Given the description of an element on the screen output the (x, y) to click on. 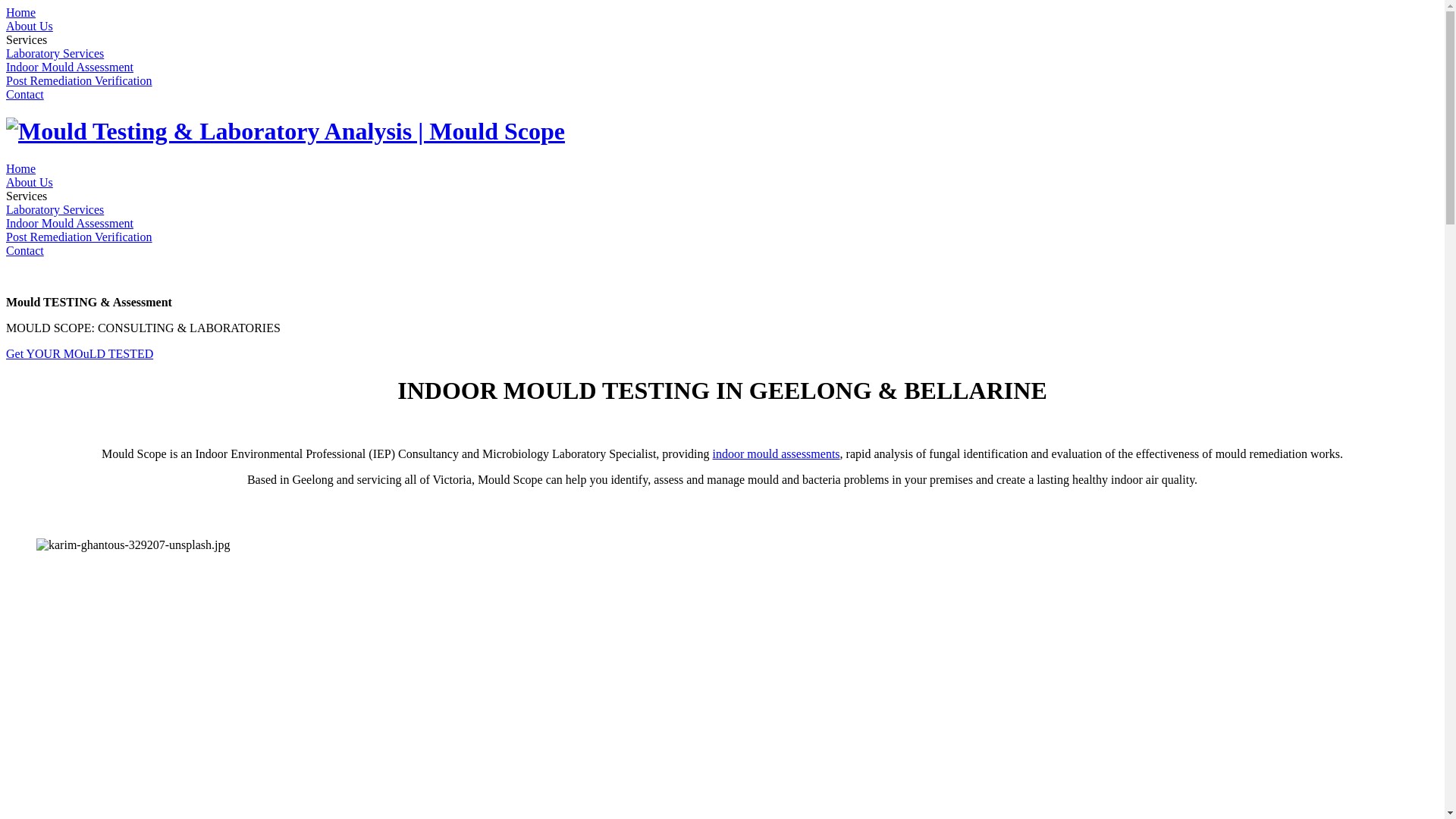
About Us Element type: text (29, 181)
Indoor Mould Assessment Element type: text (69, 66)
Contact Element type: text (24, 93)
Post Remediation Verification Element type: text (79, 80)
Home Element type: text (20, 168)
Indoor Mould Assessment Element type: text (69, 222)
Contact Element type: text (24, 250)
indoor mould assessments Element type: text (776, 453)
Post Remediation Verification Element type: text (79, 236)
Get YOUR MOuLD TESTED Element type: text (79, 353)
About Us Element type: text (29, 25)
Laboratory Services Element type: text (54, 209)
Home Element type: text (20, 12)
Laboratory Services Element type: text (54, 53)
